Given the description of an element on the screen output the (x, y) to click on. 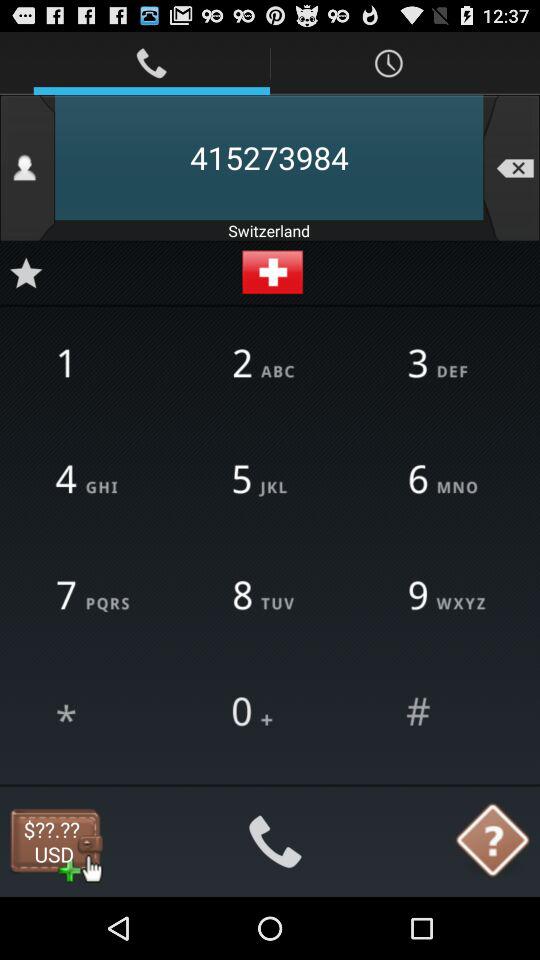
favorite the number (26, 272)
